Given the description of an element on the screen output the (x, y) to click on. 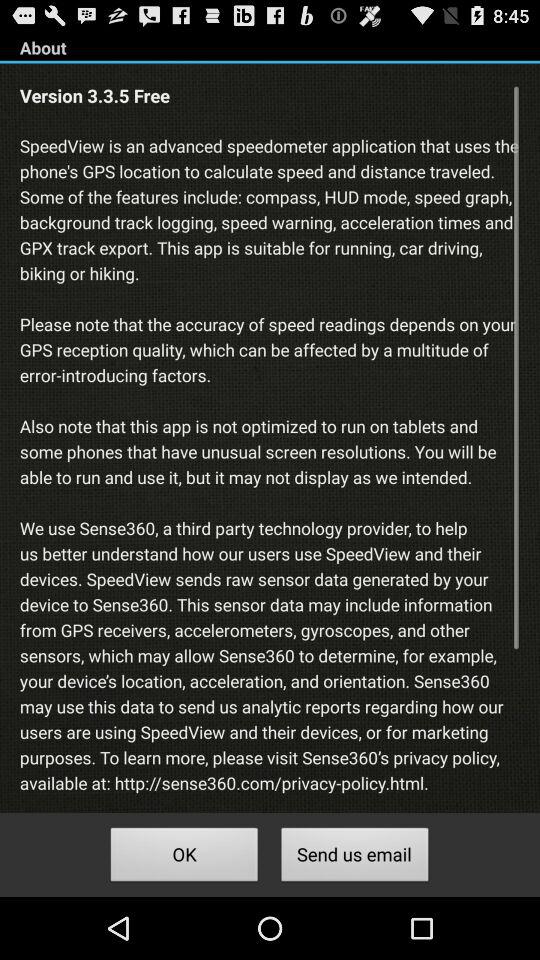
jump until send us email item (354, 857)
